Given the description of an element on the screen output the (x, y) to click on. 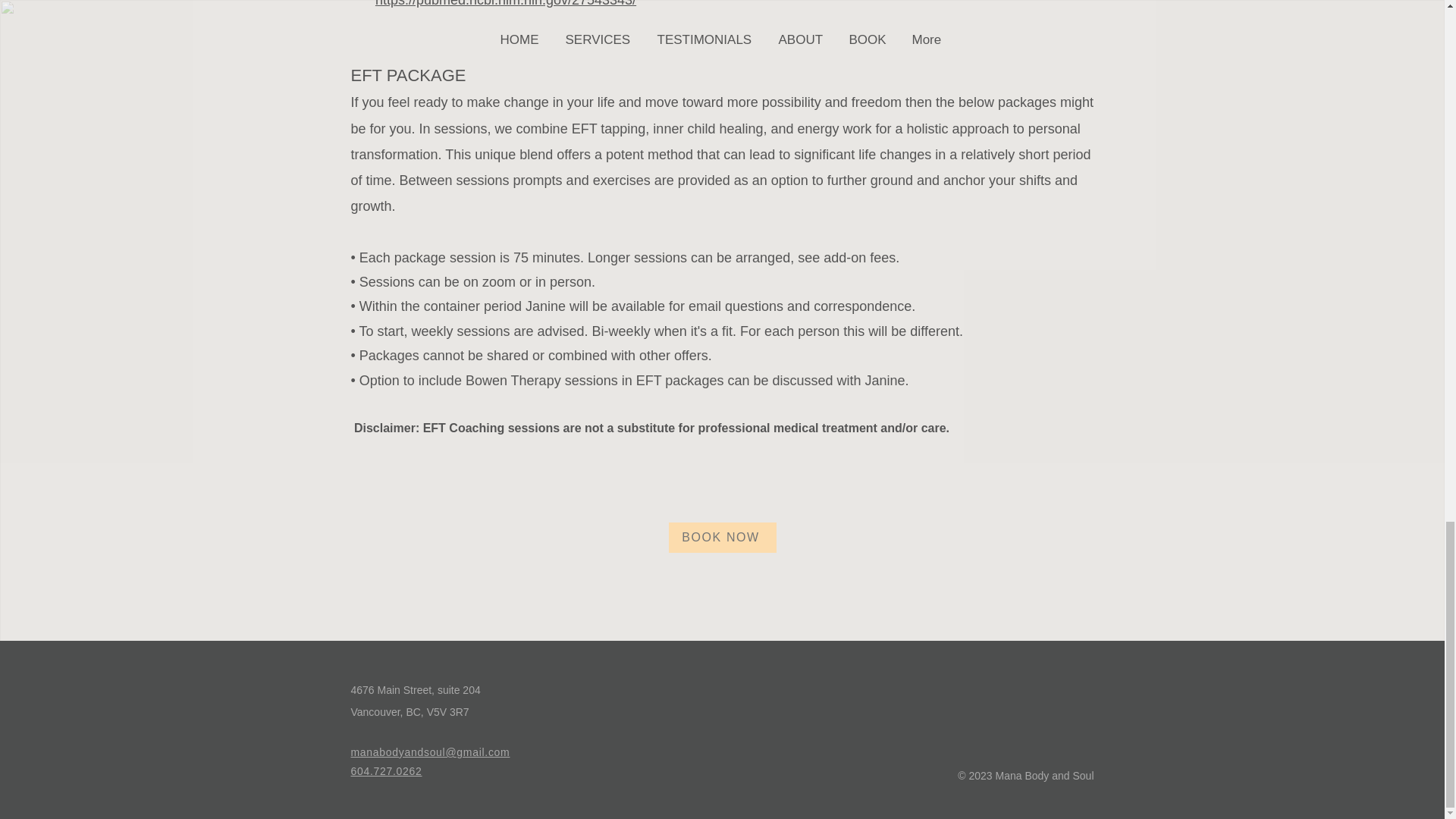
BOOK NOW (722, 537)
604.727.0262 (386, 770)
